Given the description of an element on the screen output the (x, y) to click on. 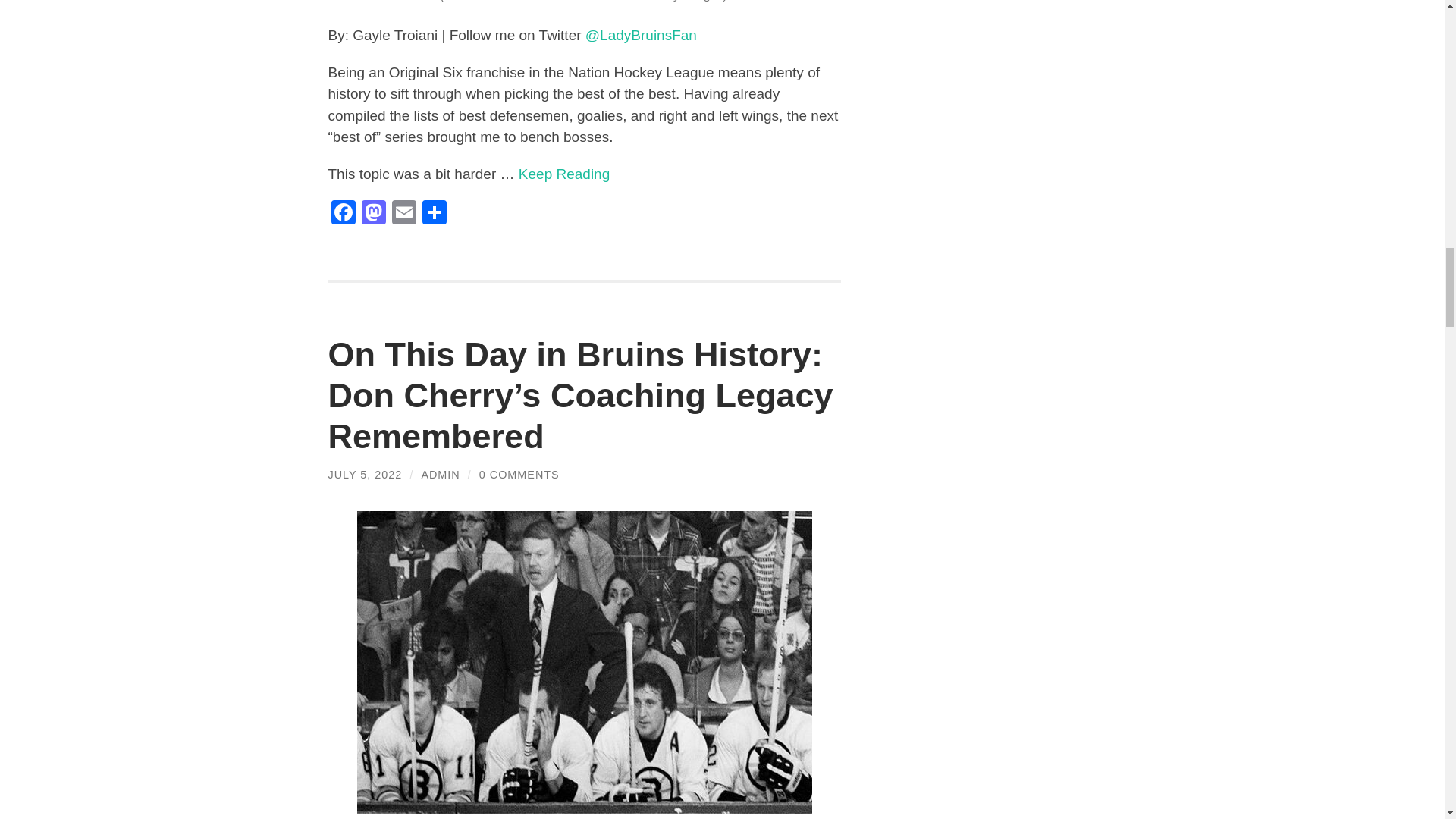
Posts by Admin (440, 474)
Facebook (342, 213)
Mastodon (373, 213)
Email (403, 213)
